Given the description of an element on the screen output the (x, y) to click on. 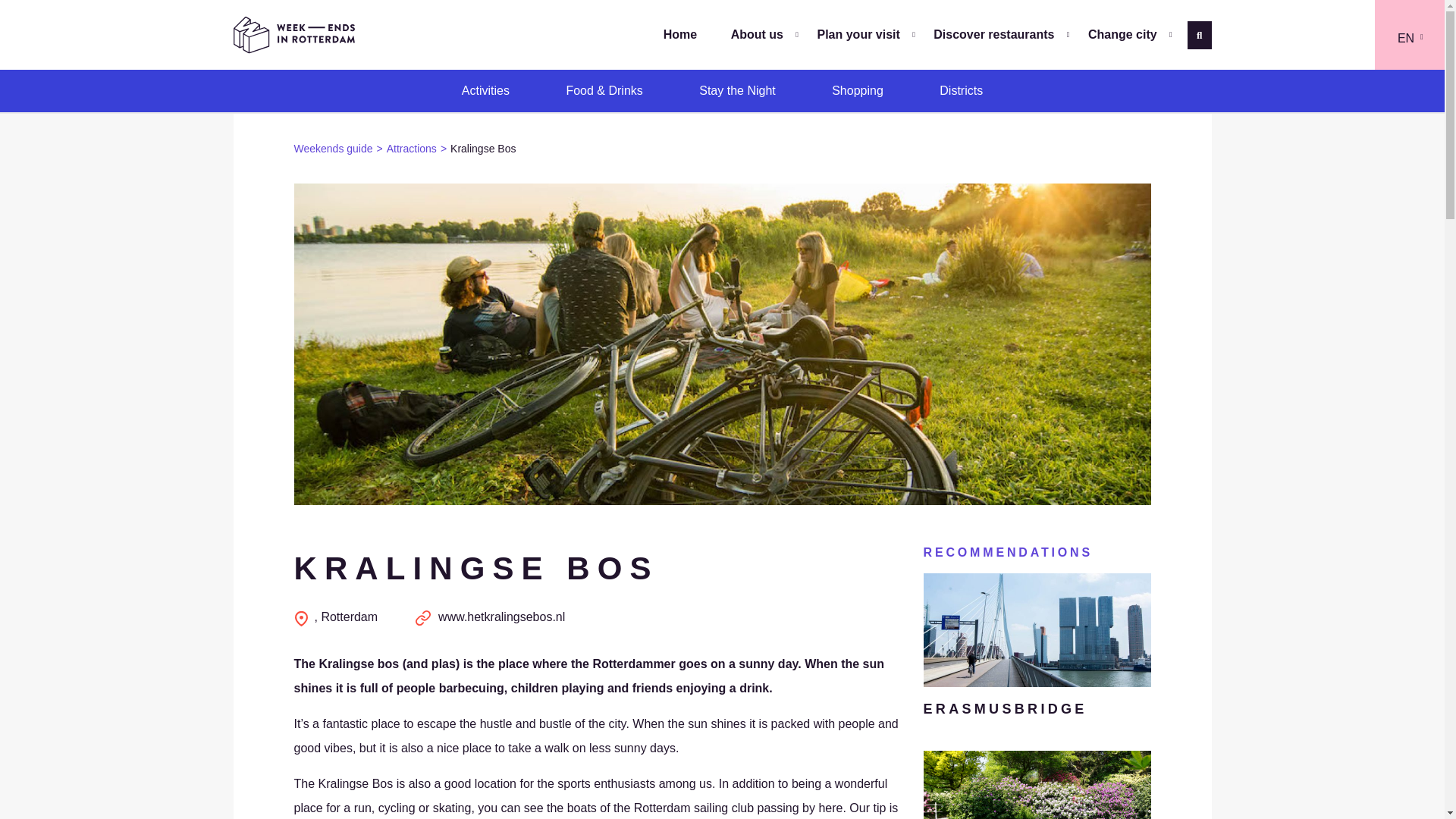
Shopping (858, 90)
Discover restaurants (993, 34)
Activities (485, 90)
Plan your visit (858, 34)
Weekends guide (340, 148)
Home (679, 34)
Districts (961, 90)
About us (756, 34)
Change city (1122, 34)
Attractions (418, 148)
www.hetkralingsebos.nl (489, 616)
Stay the Night (737, 90)
